Given the description of an element on the screen output the (x, y) to click on. 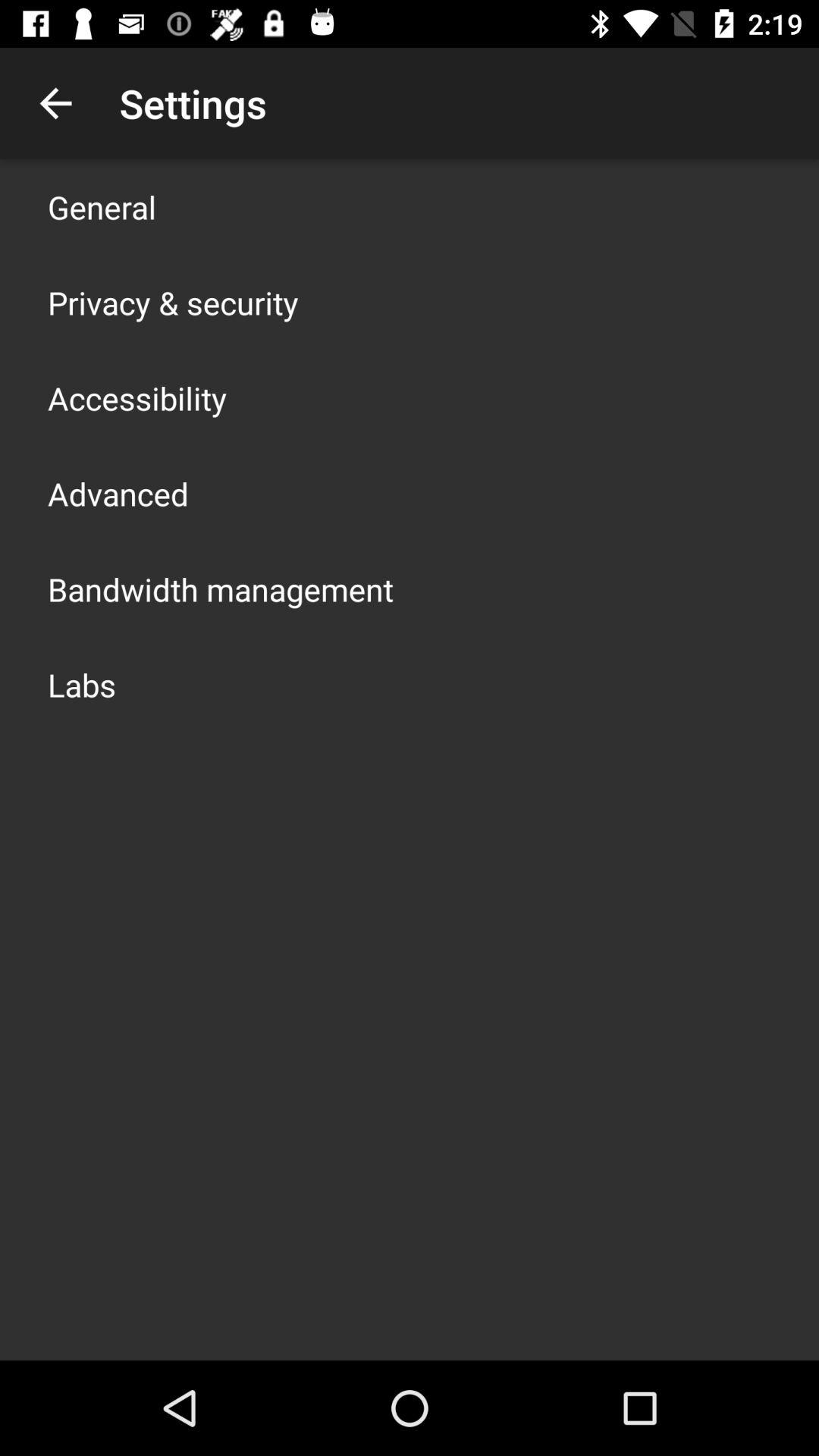
choose the item above the bandwidth management icon (117, 493)
